Given the description of an element on the screen output the (x, y) to click on. 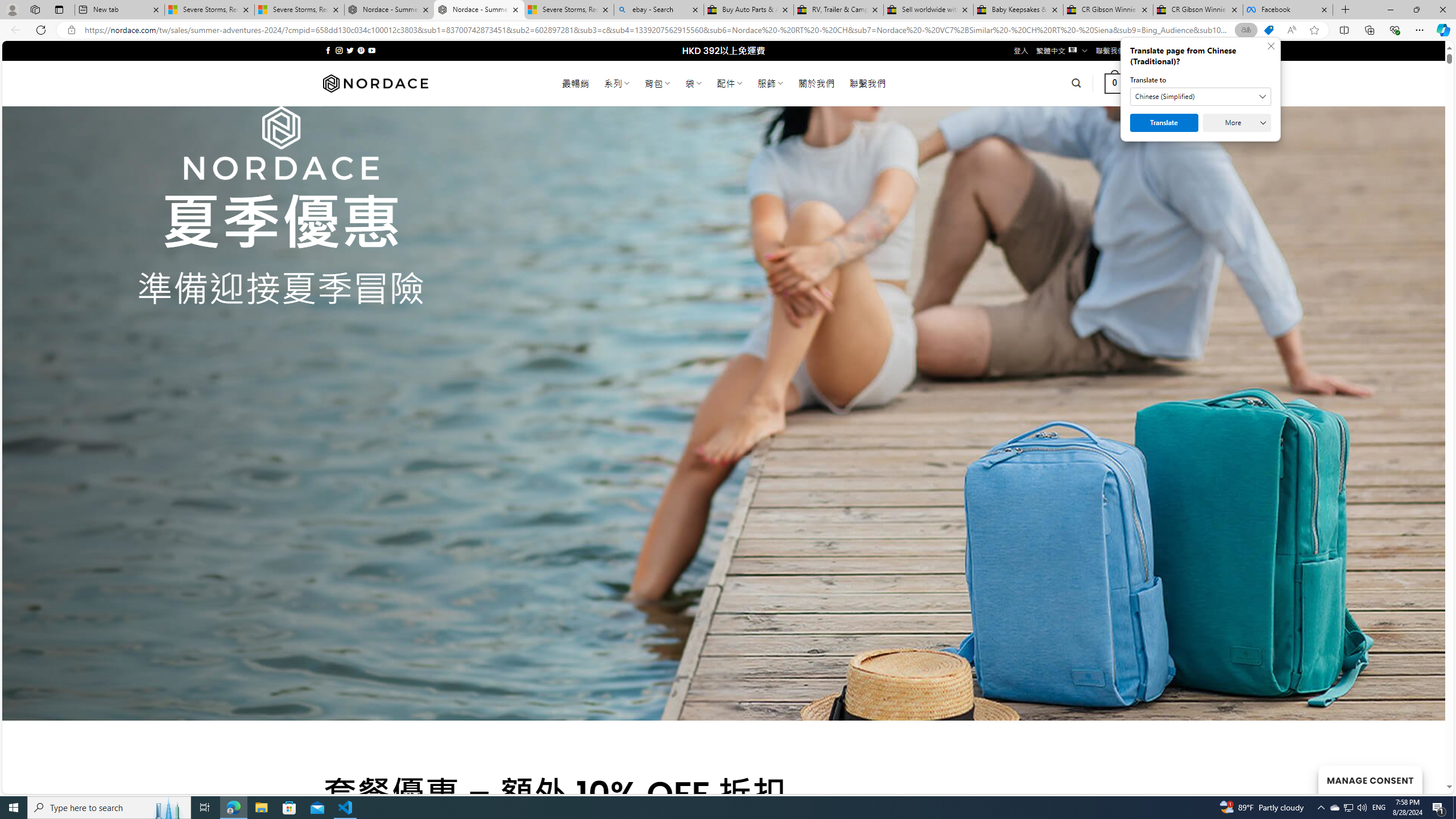
  0   (1115, 83)
Facebook (1287, 9)
App bar (728, 29)
Show translate options (1245, 29)
Follow on Pinterest (360, 50)
